Given the description of an element on the screen output the (x, y) to click on. 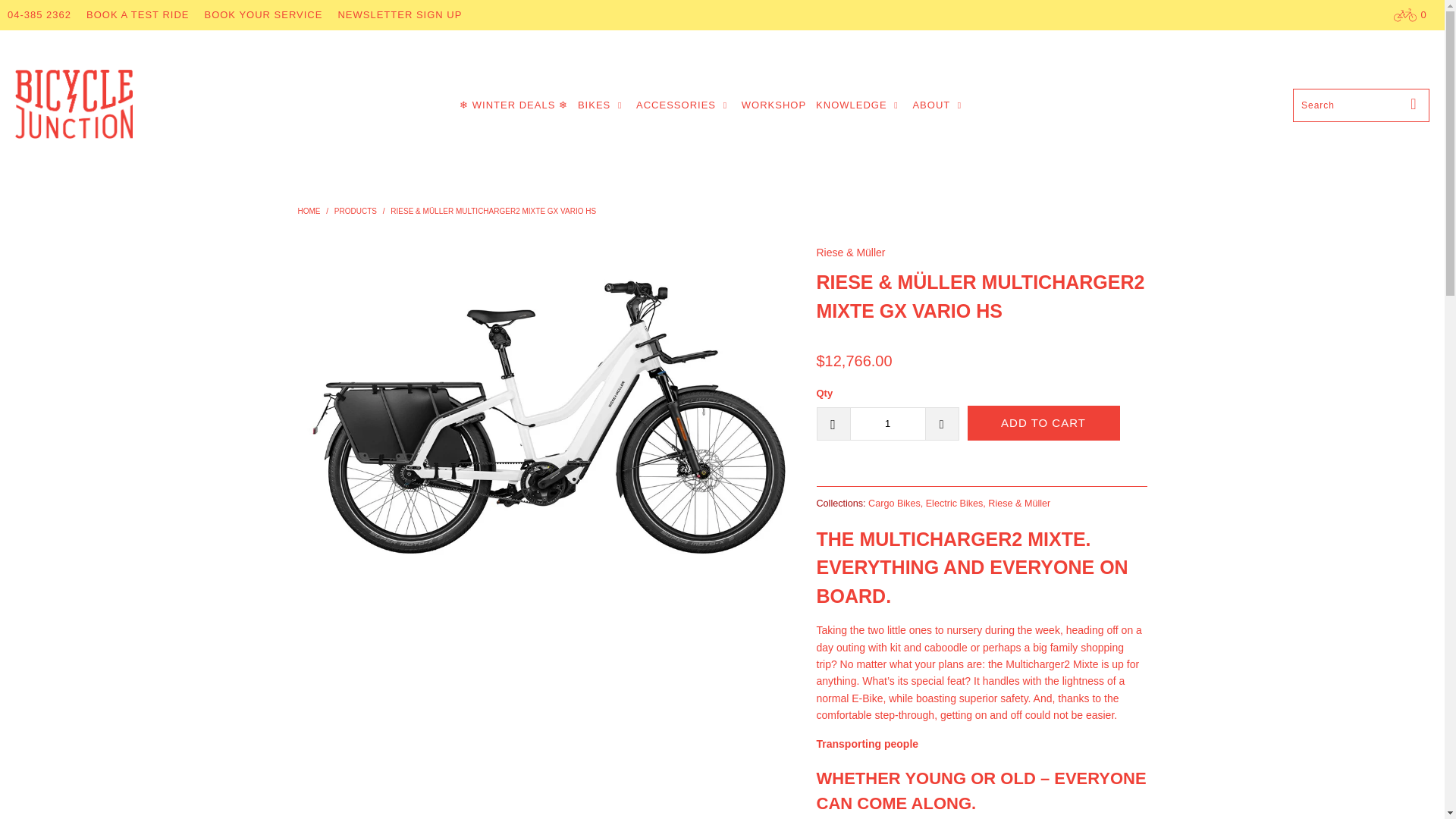
1 (886, 423)
Products (355, 211)
Bicycle Junction (73, 104)
Bicycle Junction (308, 211)
Cargo Bikes (893, 502)
Electric Bikes (955, 502)
